Given the description of an element on the screen output the (x, y) to click on. 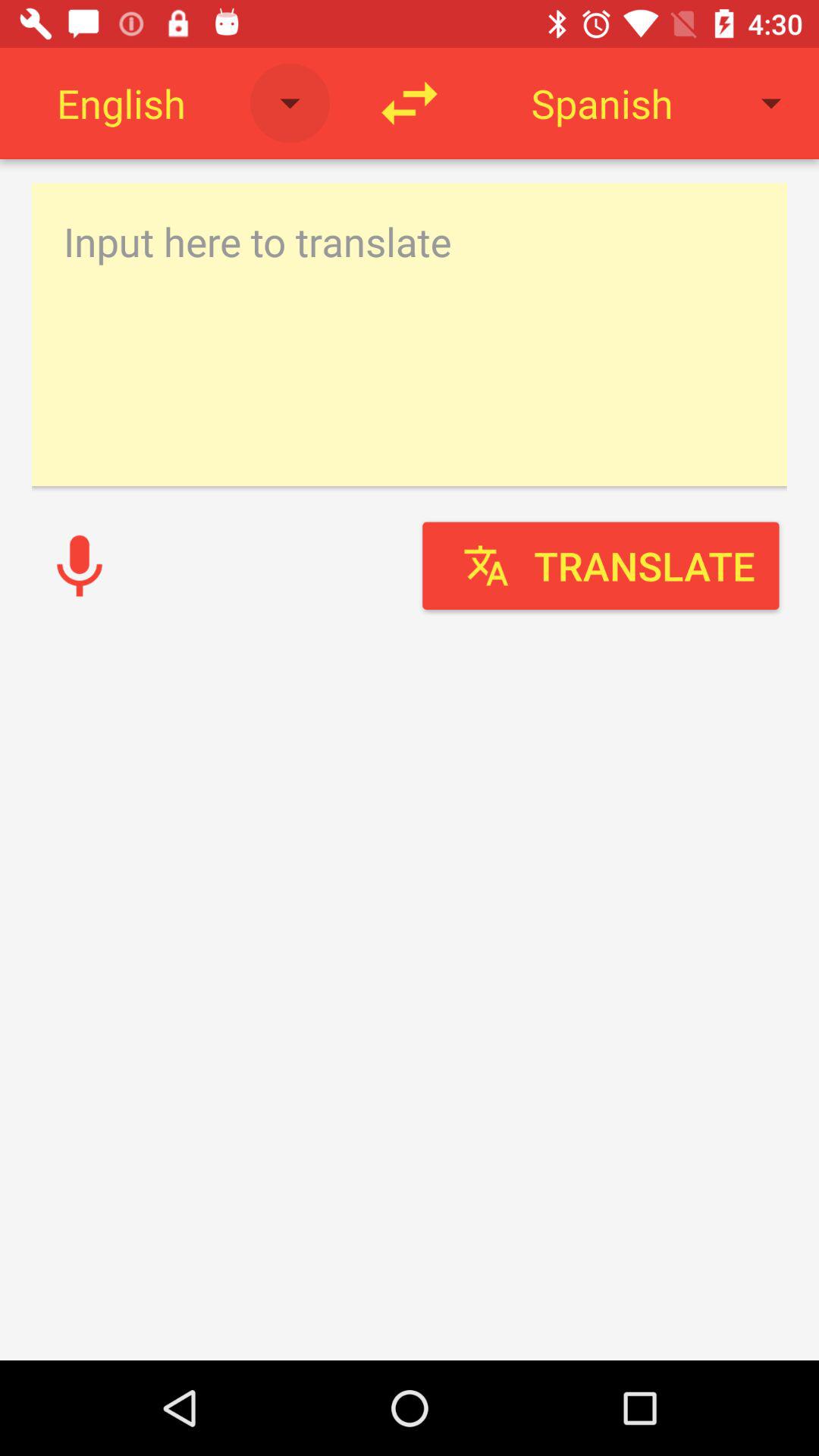
translate english text to spanish translate english voice to spanish (409, 334)
